Given the description of an element on the screen output the (x, y) to click on. 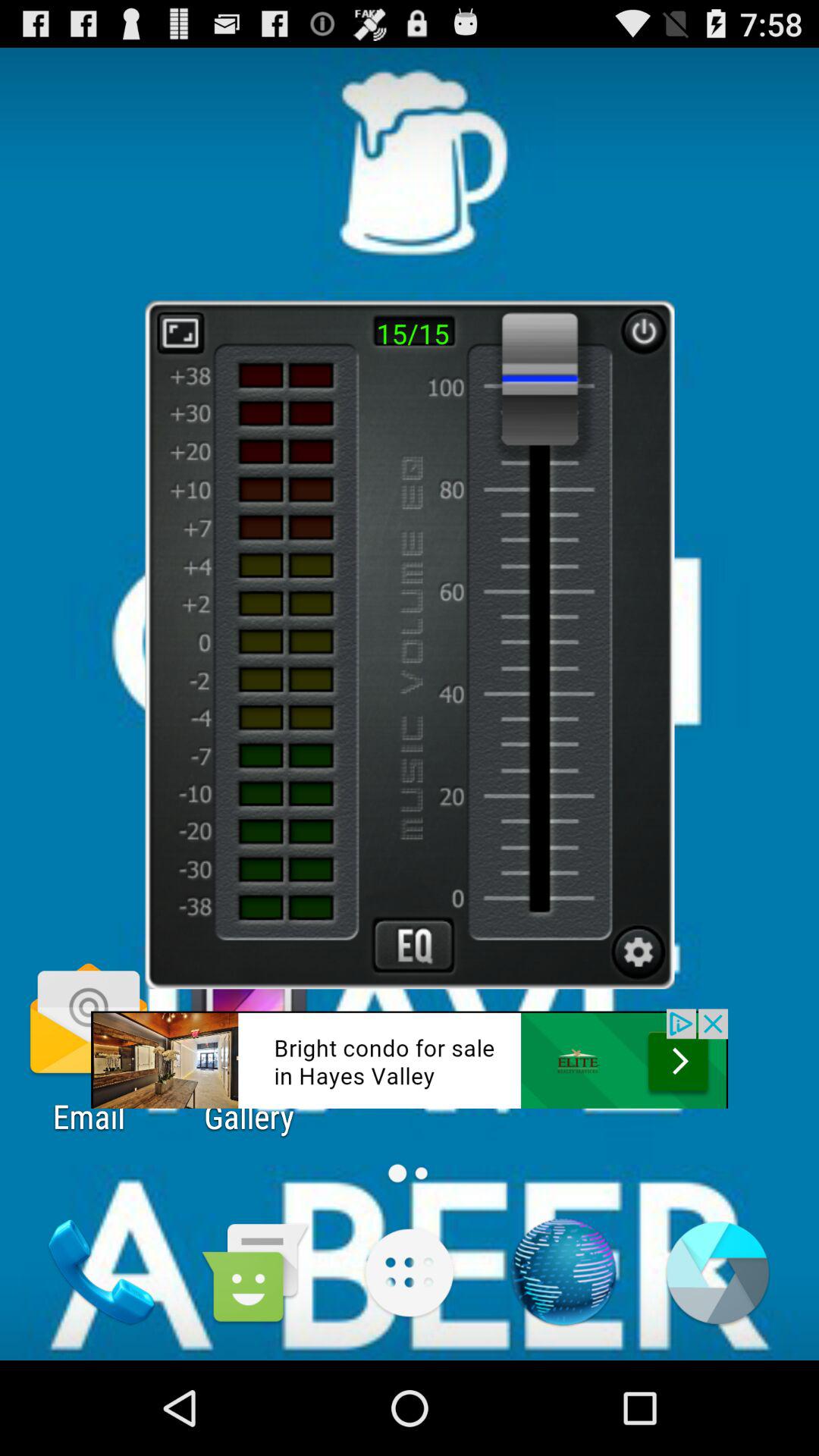
eq (413, 945)
